Given the description of an element on the screen output the (x, y) to click on. 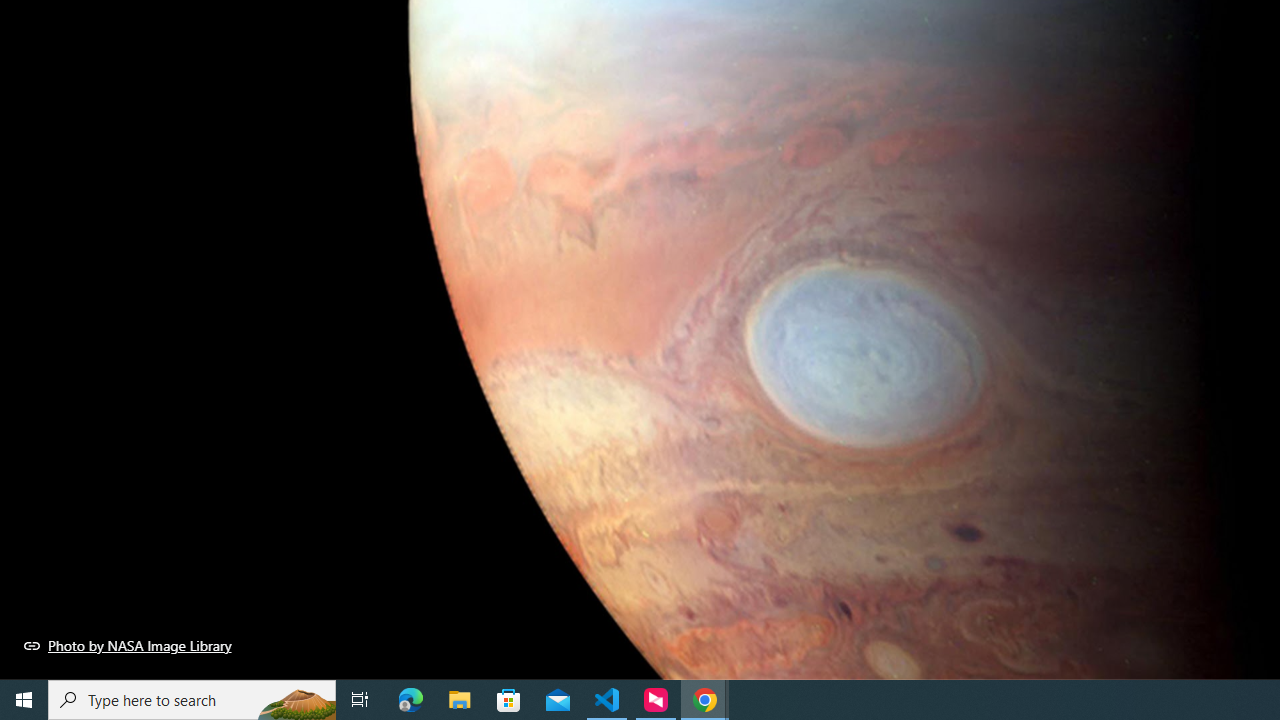
Google Chrome - 2 running windows (704, 699)
Microsoft Store (509, 699)
File Explorer (460, 699)
Microsoft Edge (411, 699)
Type here to search (191, 699)
Visual Studio Code - 1 running window (607, 699)
Search highlights icon opens search home window (295, 699)
Task View (359, 699)
Start (24, 699)
Photo by NASA Image Library (127, 645)
